Given the description of an element on the screen output the (x, y) to click on. 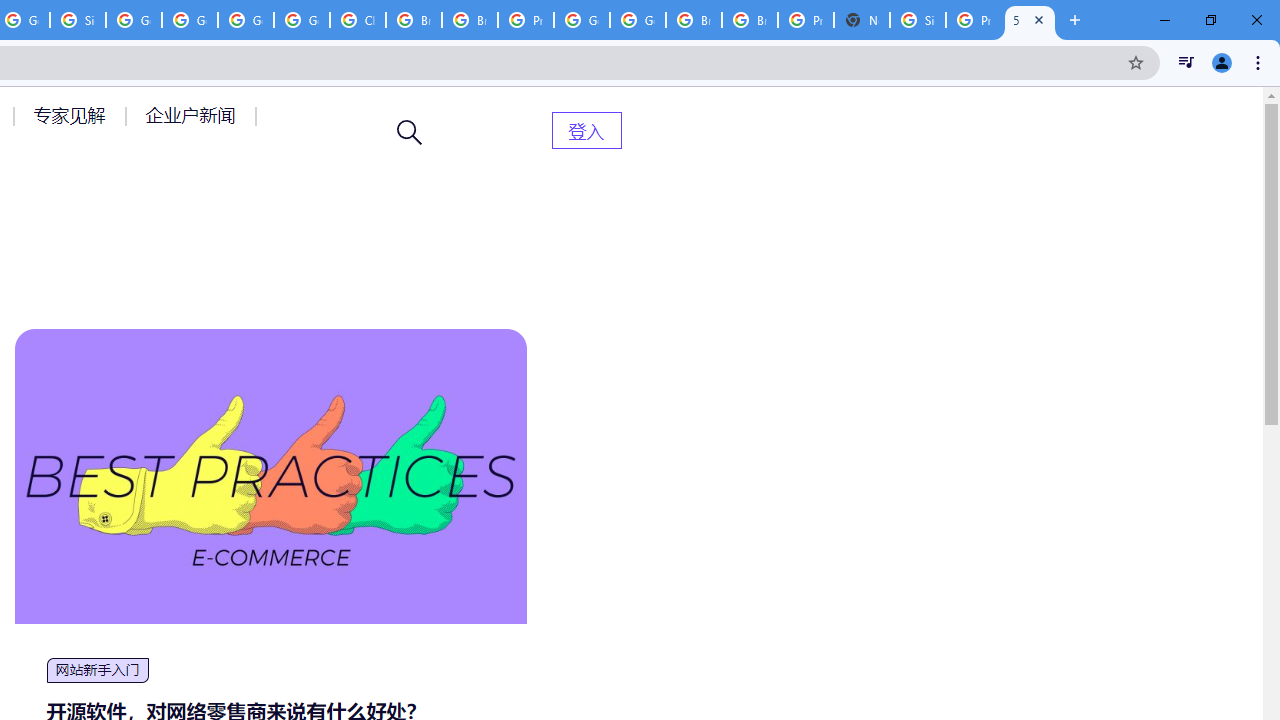
New Tab (861, 20)
